Given the description of an element on the screen output the (x, y) to click on. 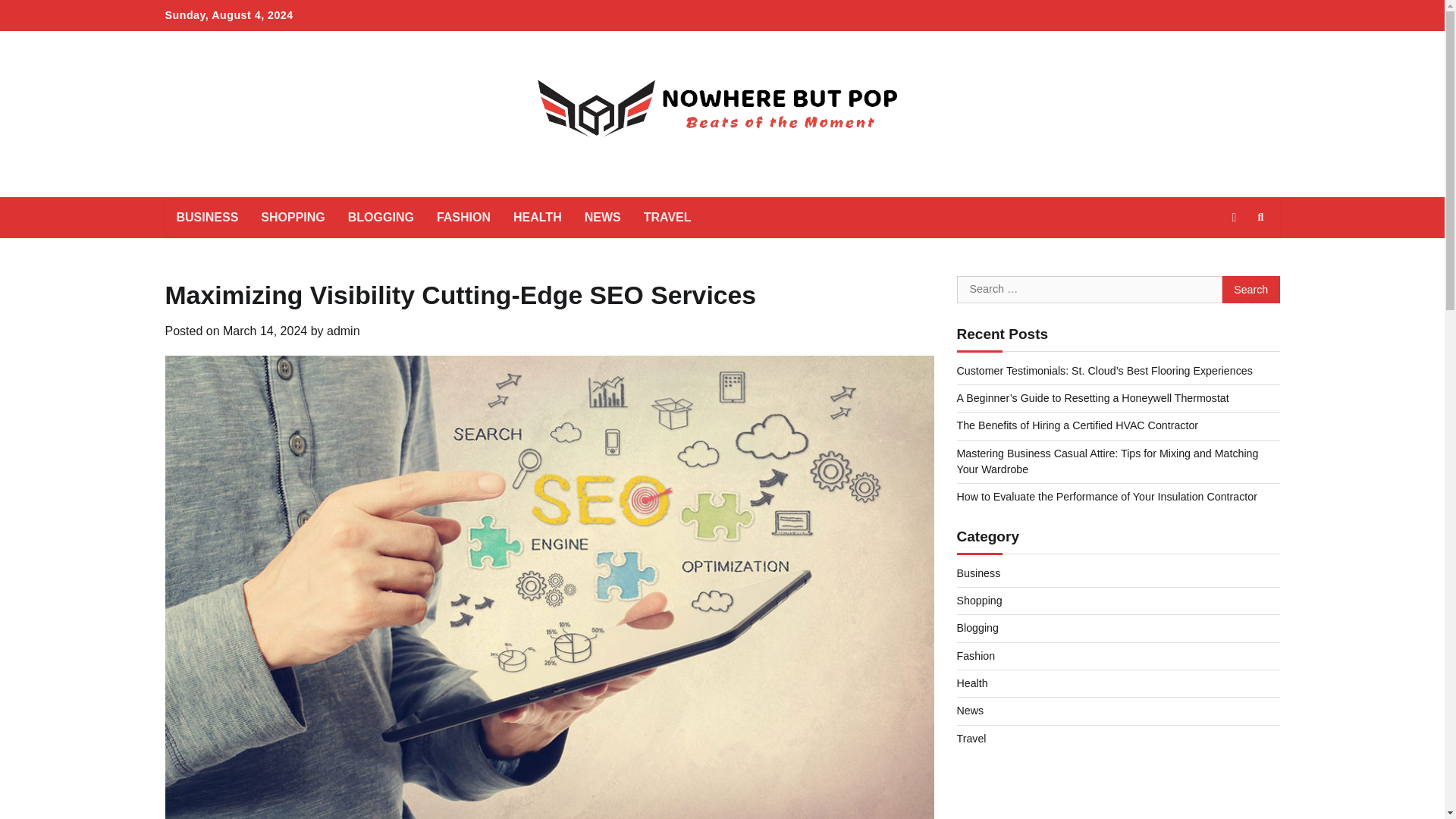
Search (1260, 217)
SHOPPING (292, 217)
NEWS (602, 217)
HEALTH (537, 217)
Business (978, 573)
March 14, 2024 (264, 330)
Health (972, 683)
Fashion (975, 655)
BUSINESS (207, 217)
